Given the description of an element on the screen output the (x, y) to click on. 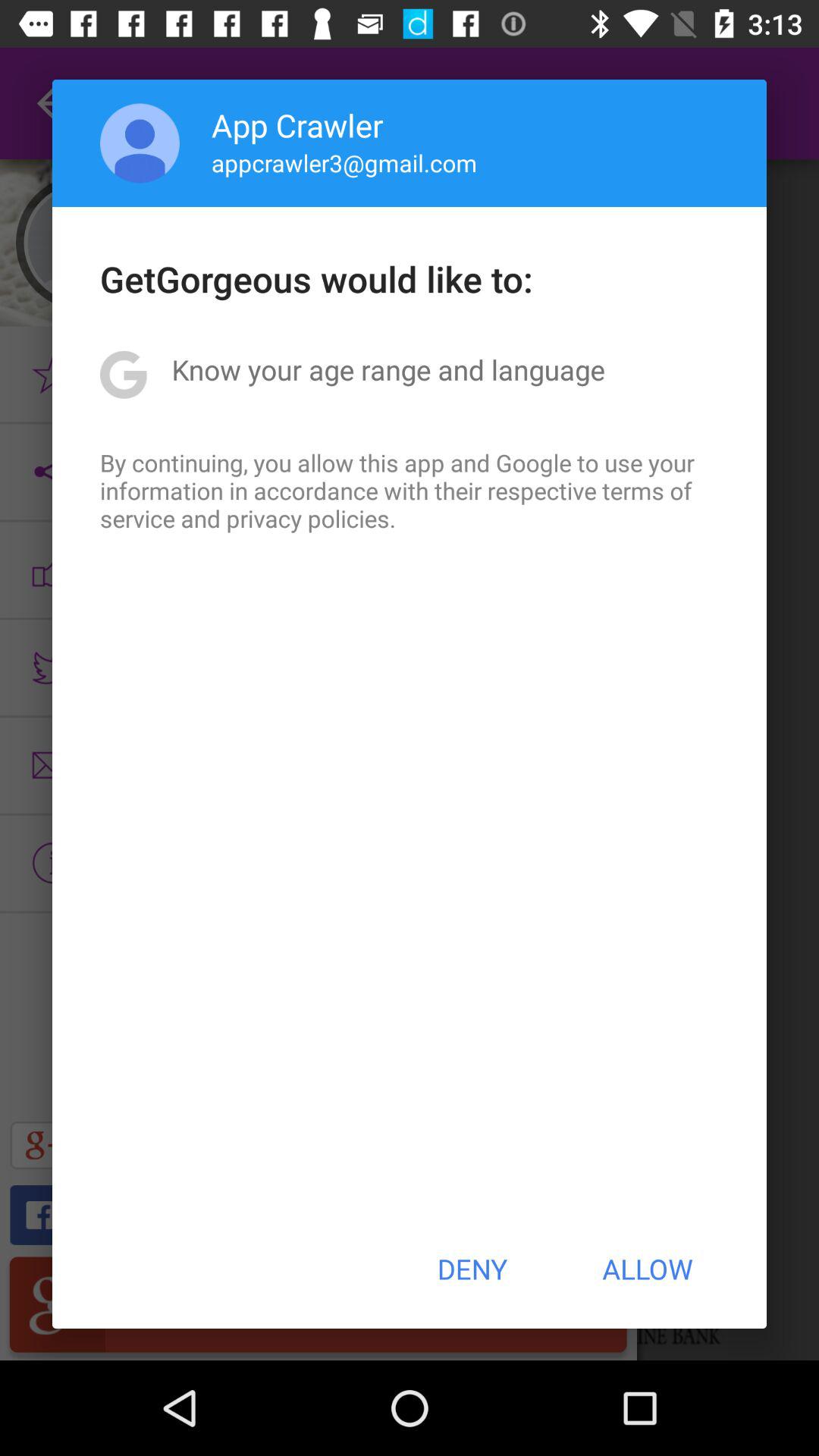
tap the icon above appcrawler3@gmail.com item (297, 124)
